Given the description of an element on the screen output the (x, y) to click on. 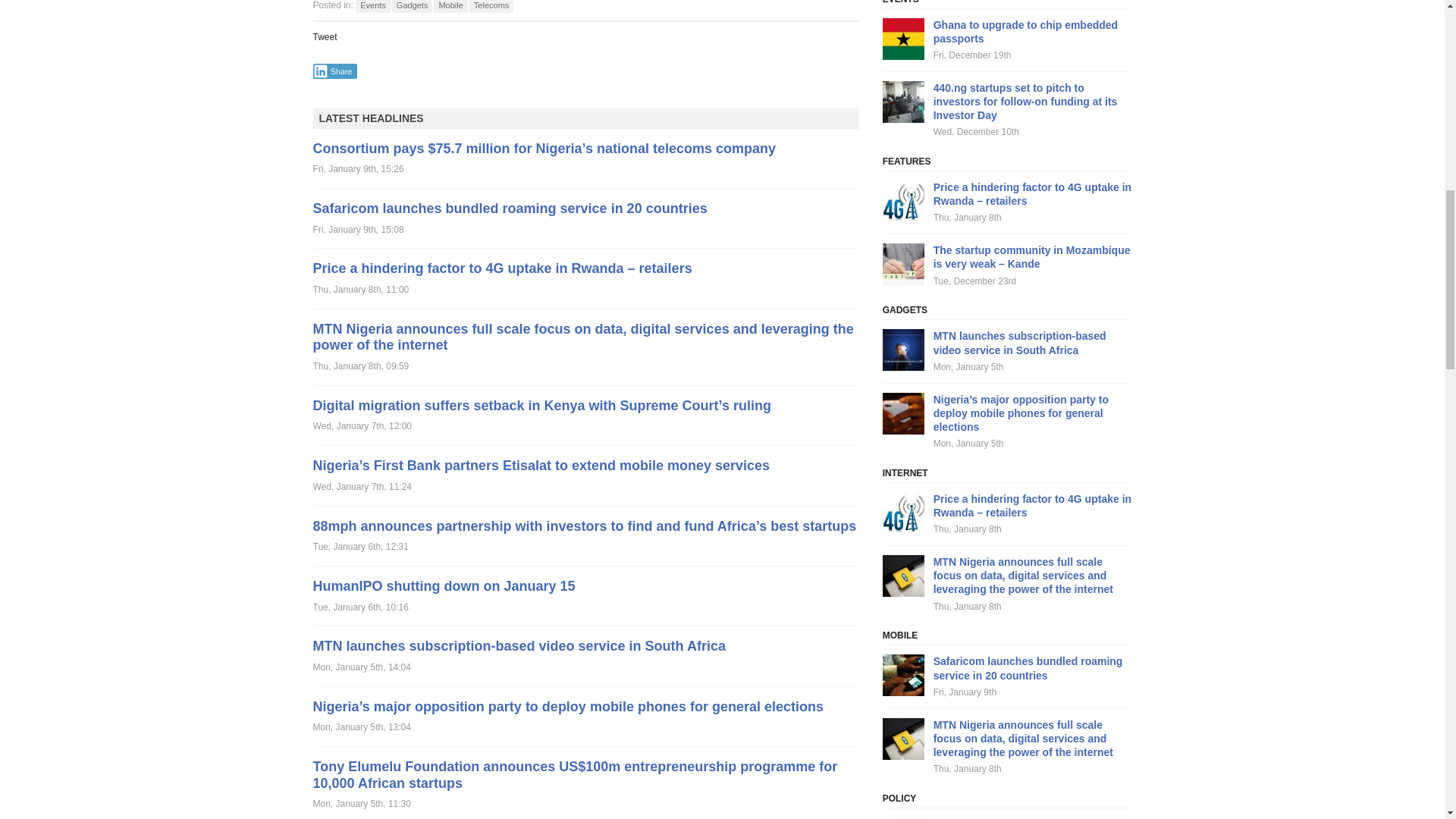
Mobile (450, 6)
Events (372, 6)
Telecoms (490, 6)
Share (334, 70)
Telecoms (490, 6)
Gadgets (411, 6)
HumanIPO shutting down on January 15 (444, 585)
Gadgets (411, 6)
Events (372, 6)
Mobile (450, 6)
Safaricom launches bundled roaming service in 20 countries (509, 208)
